Given the description of an element on the screen output the (x, y) to click on. 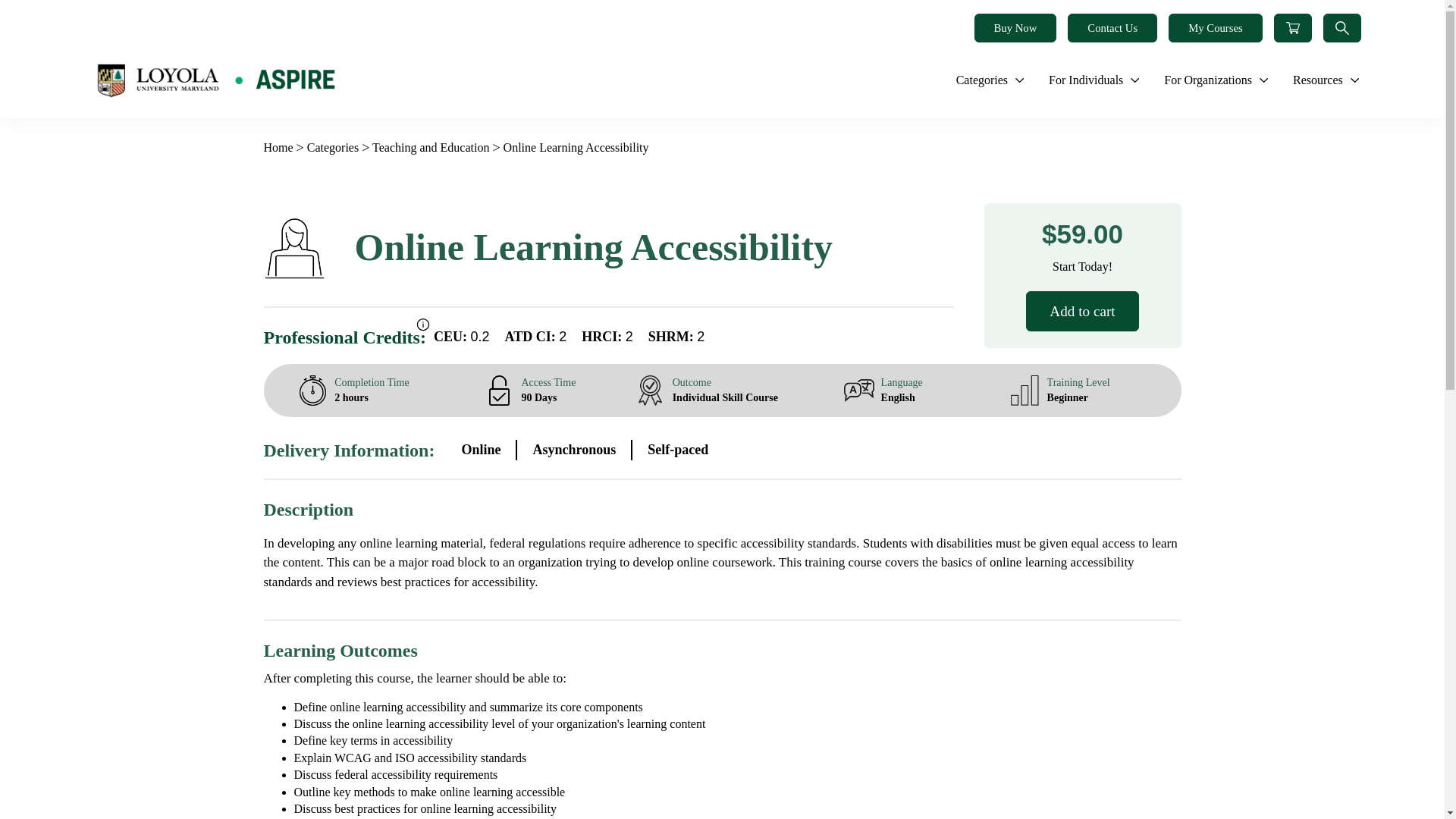
Search icon (1342, 27)
Shopping Cart (1292, 27)
Aspire - Loyola University (215, 80)
